Given the description of an element on the screen output the (x, y) to click on. 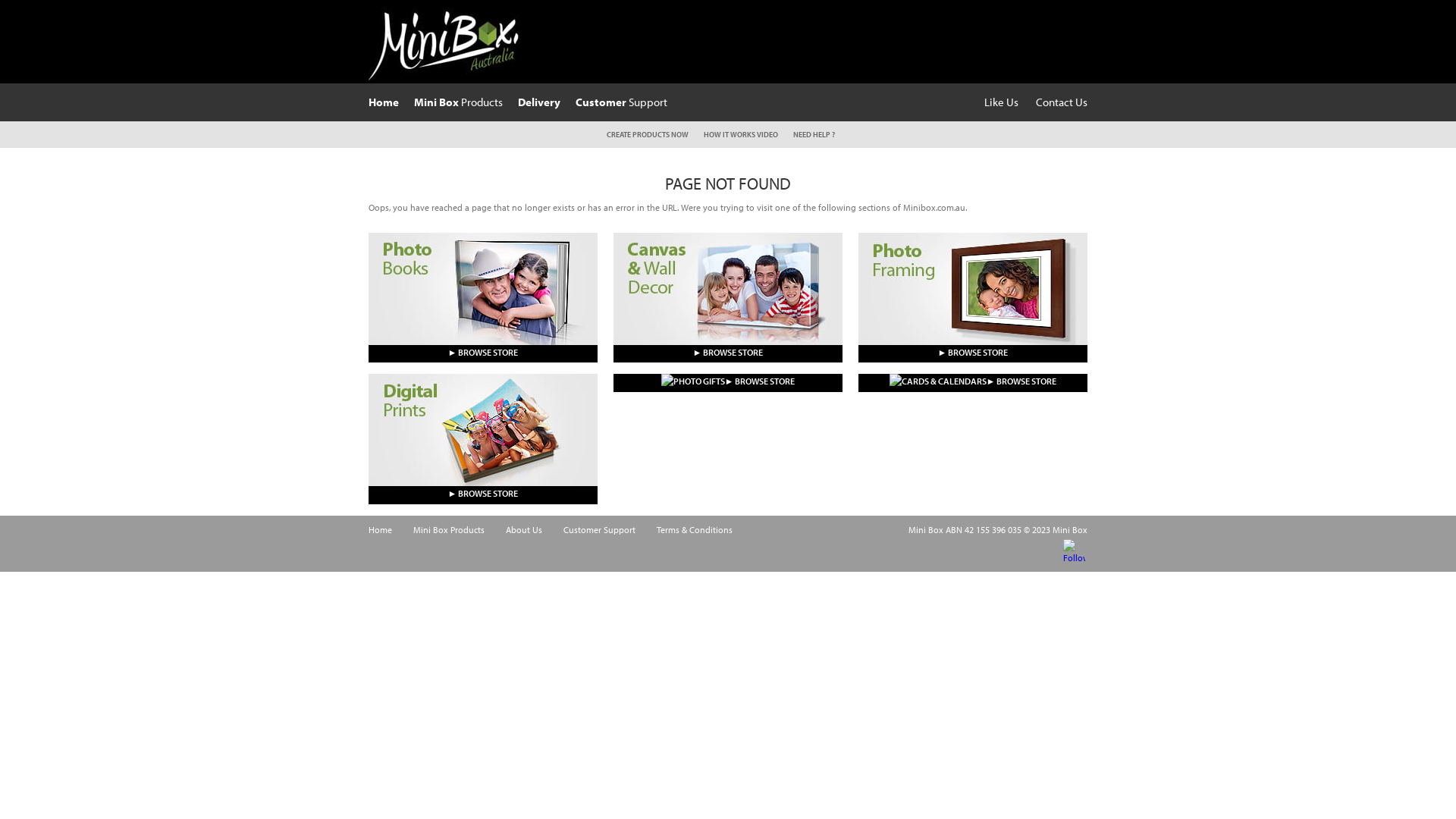
CREATE PRODUCTS NOW Element type: text (647, 134)
HOW IT WORKS VIDEO Element type: text (740, 134)
Home Element type: text (383, 101)
About Us Element type: text (523, 529)
Like Us Element type: text (1001, 101)
Terms & Conditions Element type: text (694, 529)
Delivery Element type: text (538, 101)
NEED HELP ? Element type: text (813, 134)
Customer Support Element type: text (621, 101)
Home Element type: text (380, 529)
Customer Support Element type: text (599, 529)
Mini Box Products Element type: text (448, 529)
Mini Box Products Element type: text (458, 101)
